Given the description of an element on the screen output the (x, y) to click on. 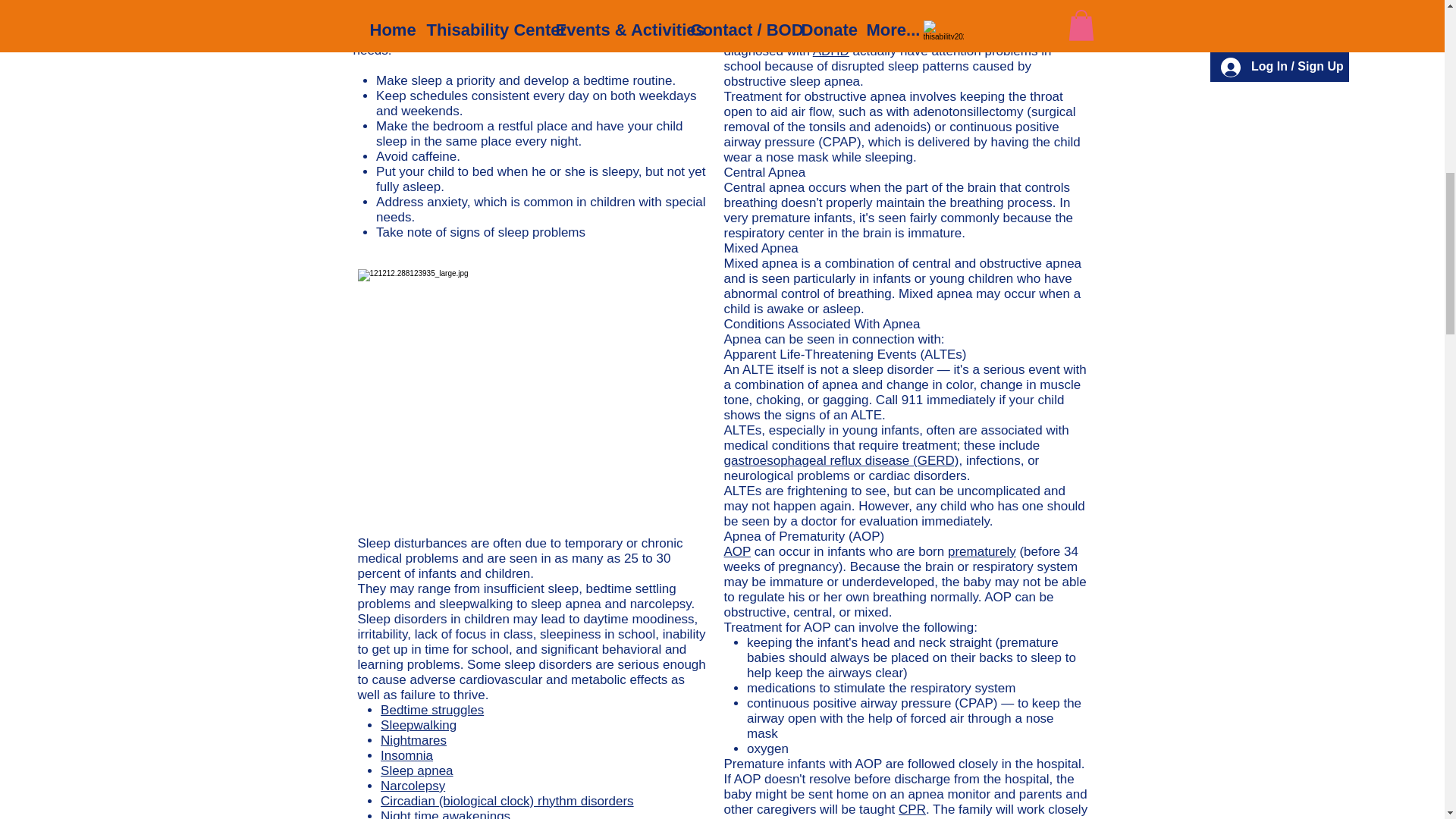
Sleep apnea (416, 770)
Nightmares (413, 740)
Insomnia (406, 755)
Sleepwalking (418, 725)
Night time awakenings (445, 814)
Narcolepsy (412, 785)
Bedtime struggles (431, 709)
